Given the description of an element on the screen output the (x, y) to click on. 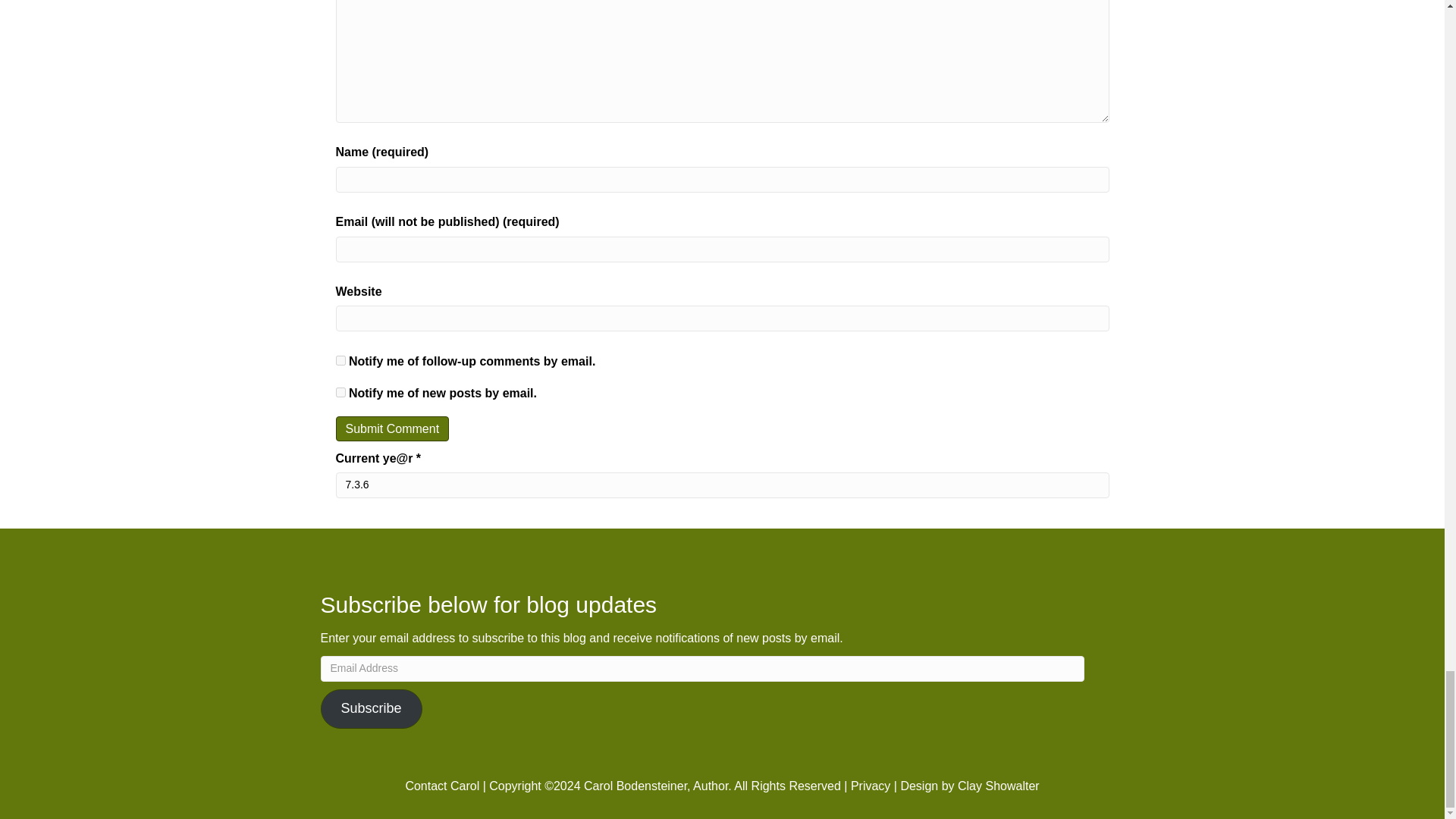
subscribe (339, 392)
subscribe (339, 360)
Submit Comment (391, 428)
7.3.6 (721, 484)
